Given the description of an element on the screen output the (x, y) to click on. 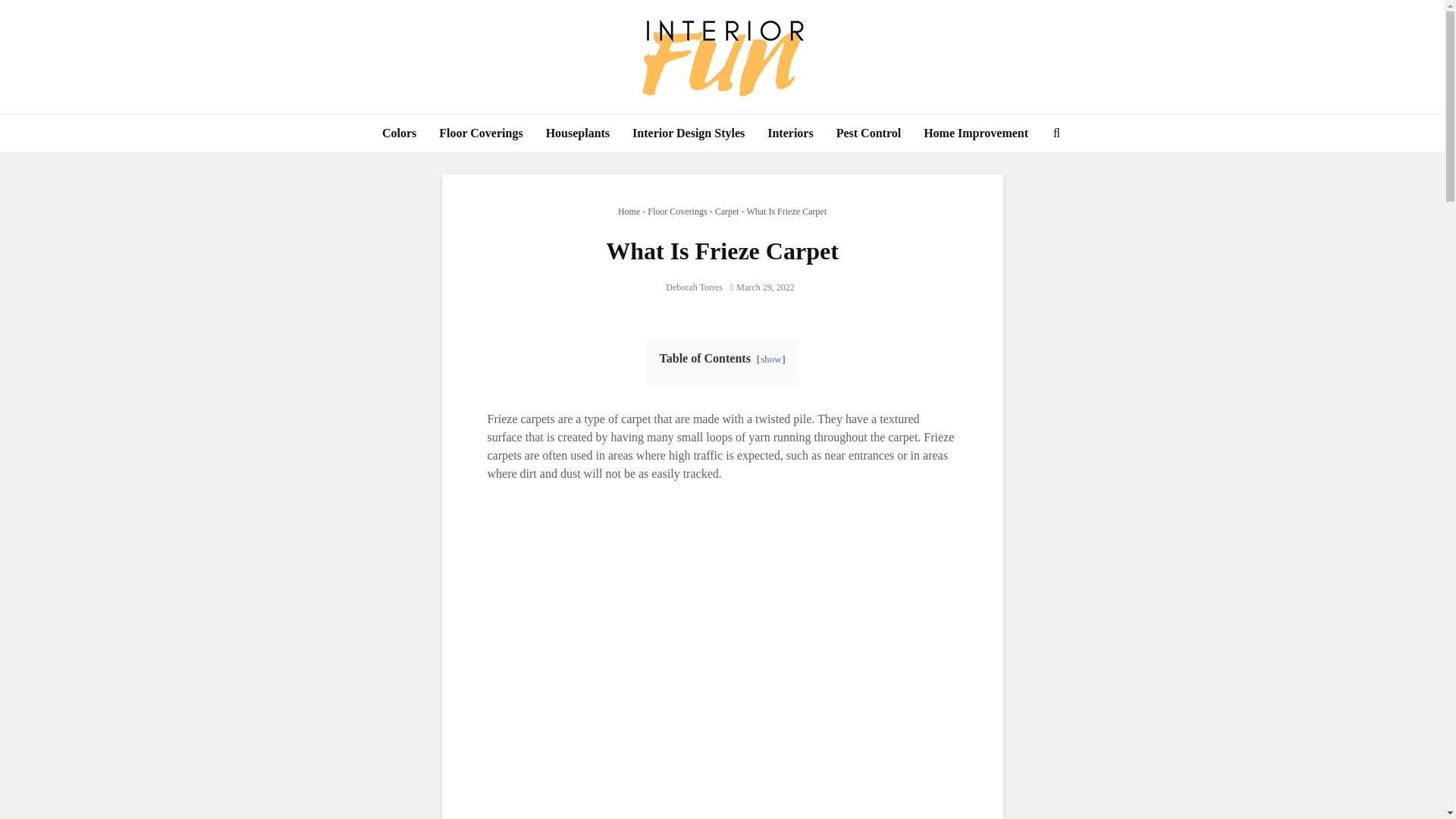
Home (628, 211)
Carpet (726, 211)
Houseplants (577, 133)
Interiors (789, 133)
Colors (399, 133)
Floor Coverings (676, 211)
Home Improvement (975, 133)
Floor Coverings (481, 133)
Interior Design Styles (688, 133)
Pest Control (868, 133)
